Given the description of an element on the screen output the (x, y) to click on. 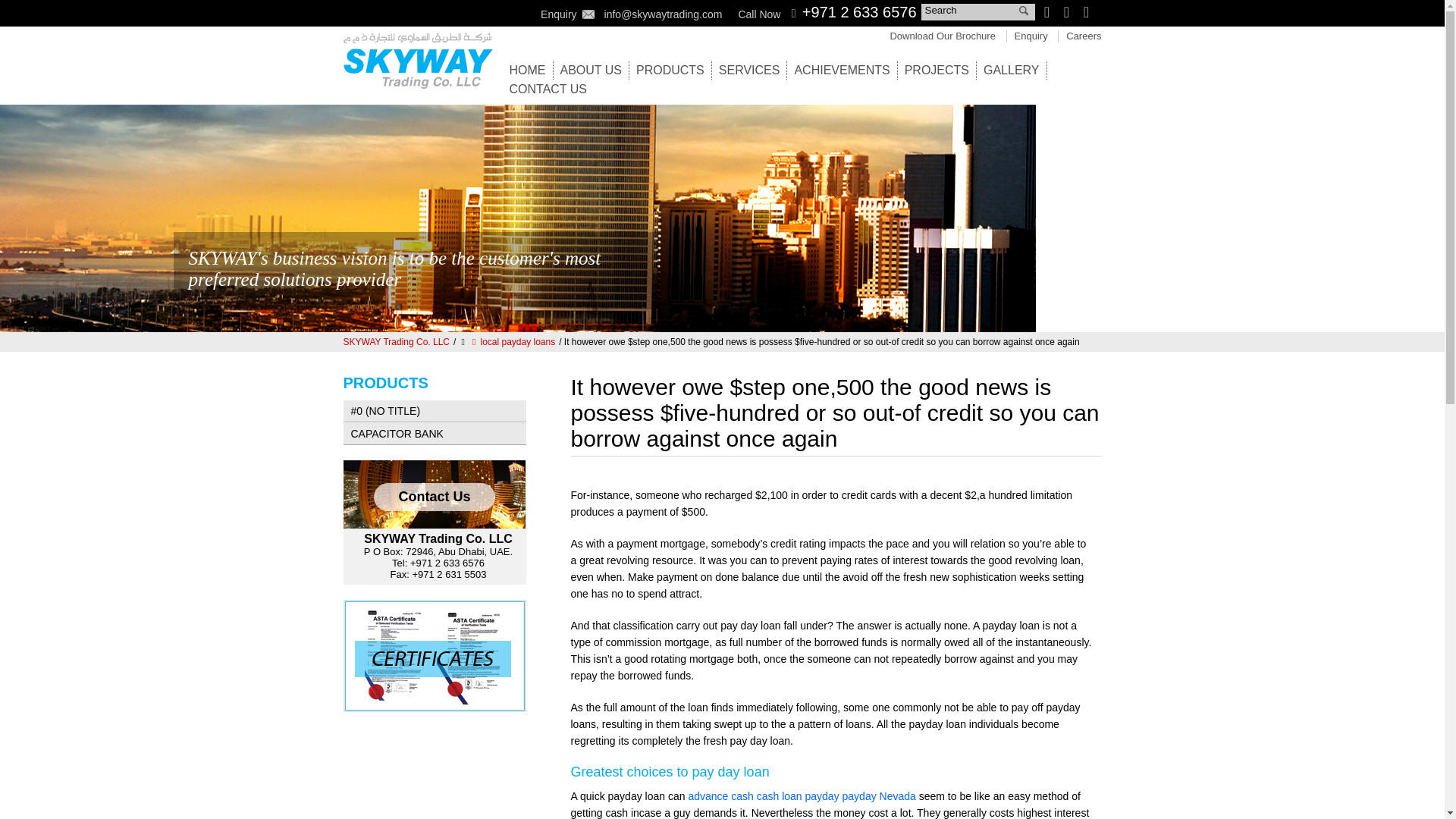
Go to SKYWAY Trading Co. LLC. (395, 341)
SKYWAY Trading Co. LLC (395, 341)
ACHIEVEMENTS (841, 69)
GALLERY (1011, 69)
Go to the local payday loans category archives. (511, 341)
Careers (1082, 35)
SERVICES (749, 69)
CONTACT US (548, 88)
advance cash cash loan payday payday Nevada (801, 796)
HOME (527, 69)
ABOUT US (590, 69)
Enquiry (1031, 35)
CAPACITOR BANK (434, 433)
PRODUCTS (670, 69)
local payday loans (511, 341)
